Given the description of an element on the screen output the (x, y) to click on. 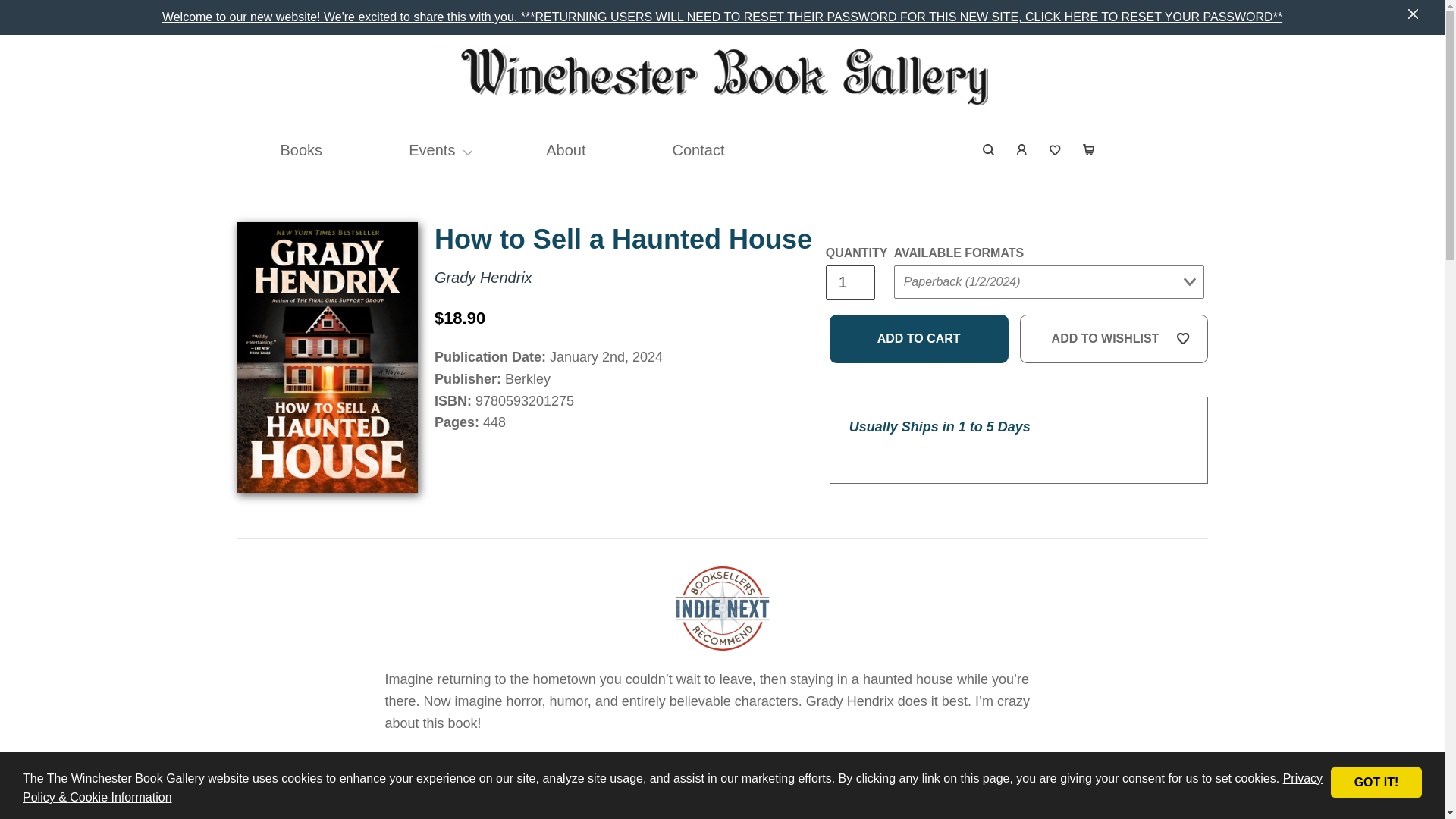
Contact (698, 150)
Cart (1088, 150)
Books (301, 150)
Wishlists (1055, 150)
ADD TO WISHLIST (1114, 338)
1 (850, 282)
SEARCH (989, 150)
Submit (1169, 137)
Search (989, 150)
Events (431, 150)
Submit (922, 311)
Add to cart (919, 338)
Wishlist (1055, 150)
Log in (1022, 150)
